Given the description of an element on the screen output the (x, y) to click on. 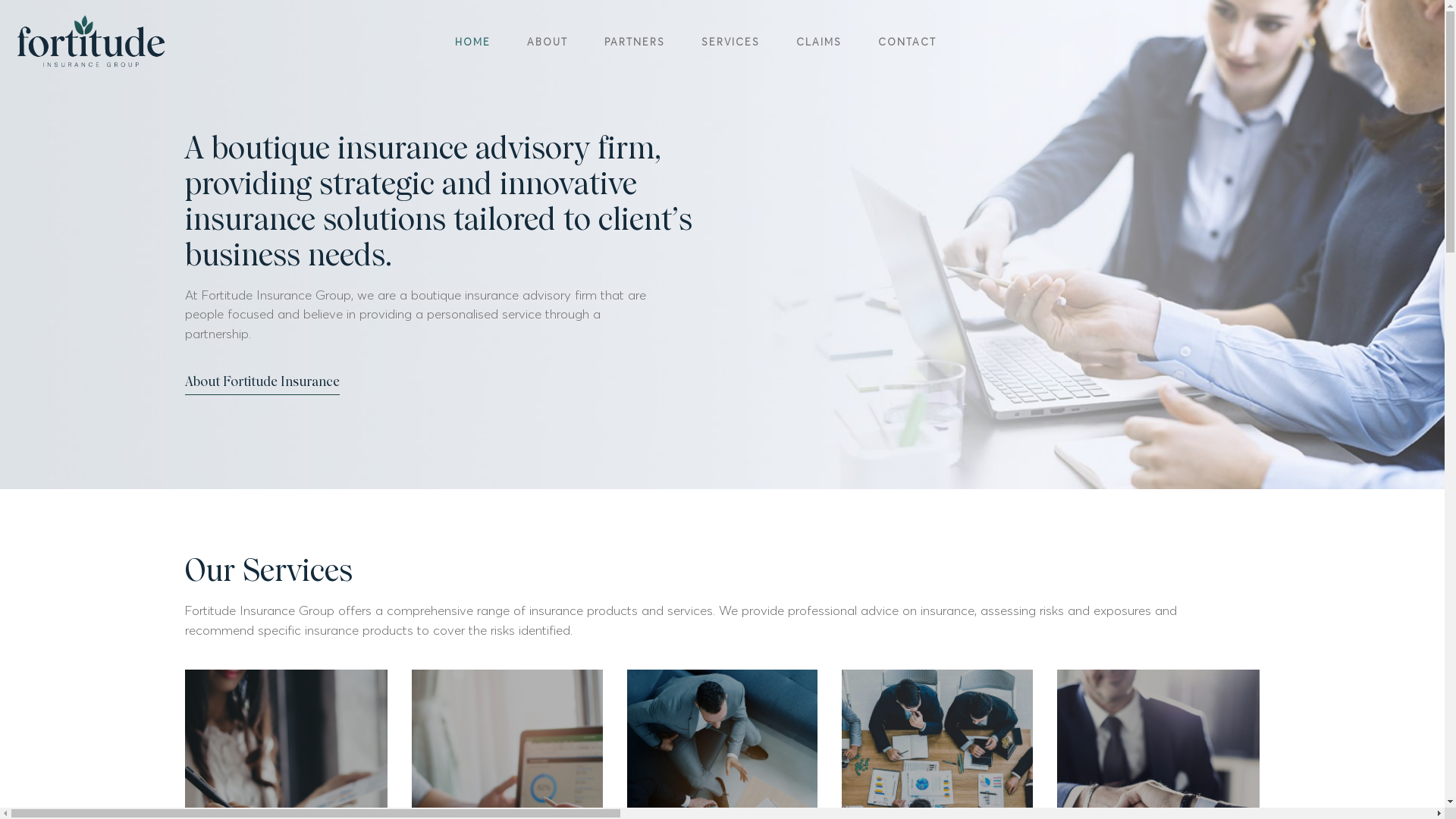
SERVICES Element type: text (729, 41)
PARTNERS Element type: text (633, 41)
CLAIMS Element type: text (818, 41)
CONTACT Element type: text (907, 41)
HOME Element type: text (472, 41)
About Fortitude Insurance Element type: text (262, 385)
ABOUT Element type: text (546, 41)
